Given the description of an element on the screen output the (x, y) to click on. 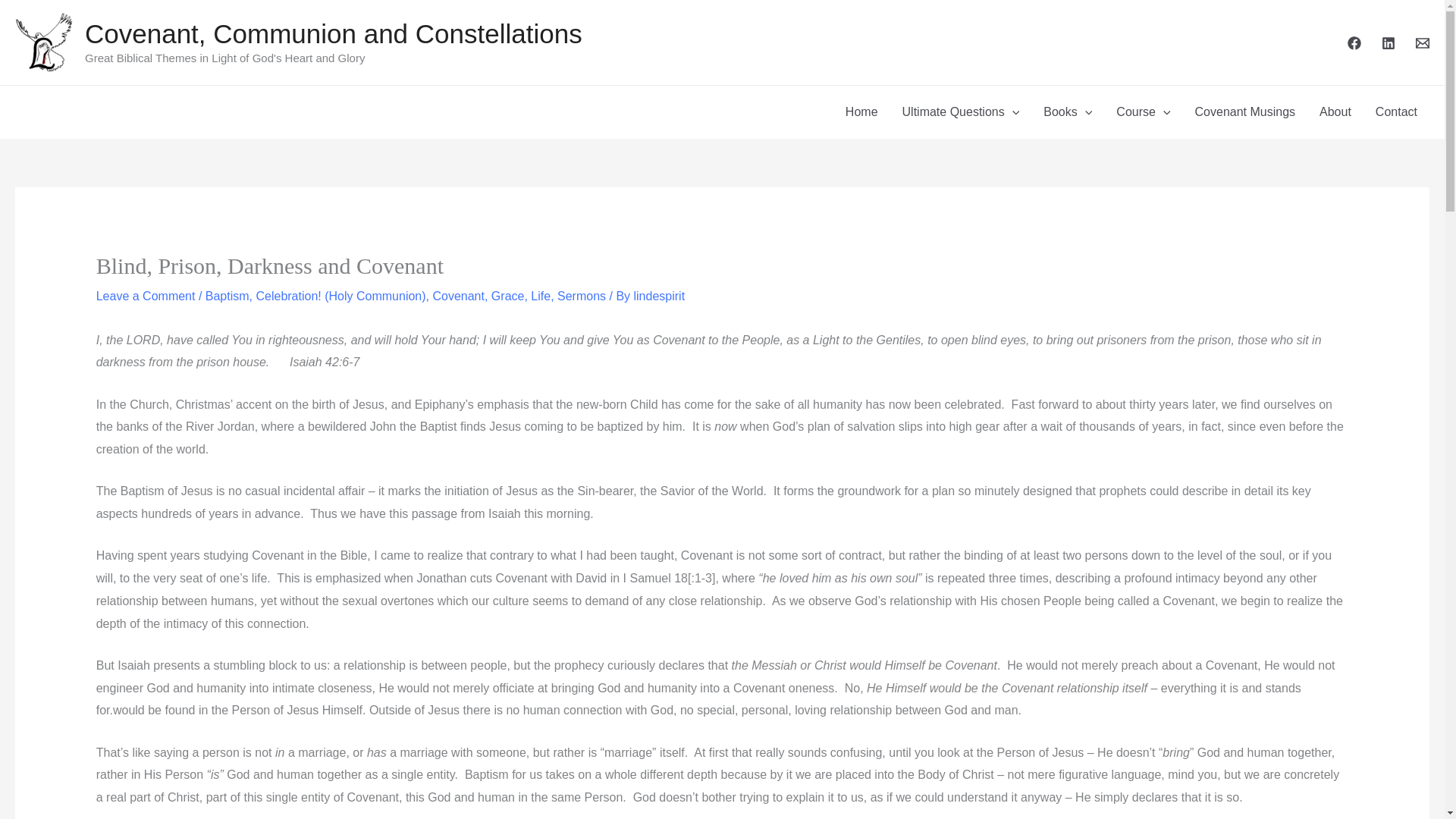
Ultimate Questions (960, 111)
Home (860, 111)
About (1334, 111)
Course (1142, 111)
View all posts by lindespirit (659, 295)
Contact (1395, 111)
Covenant Musings (1244, 111)
Books (1066, 111)
Covenant, Communion and Constellations (333, 33)
